Given the description of an element on the screen output the (x, y) to click on. 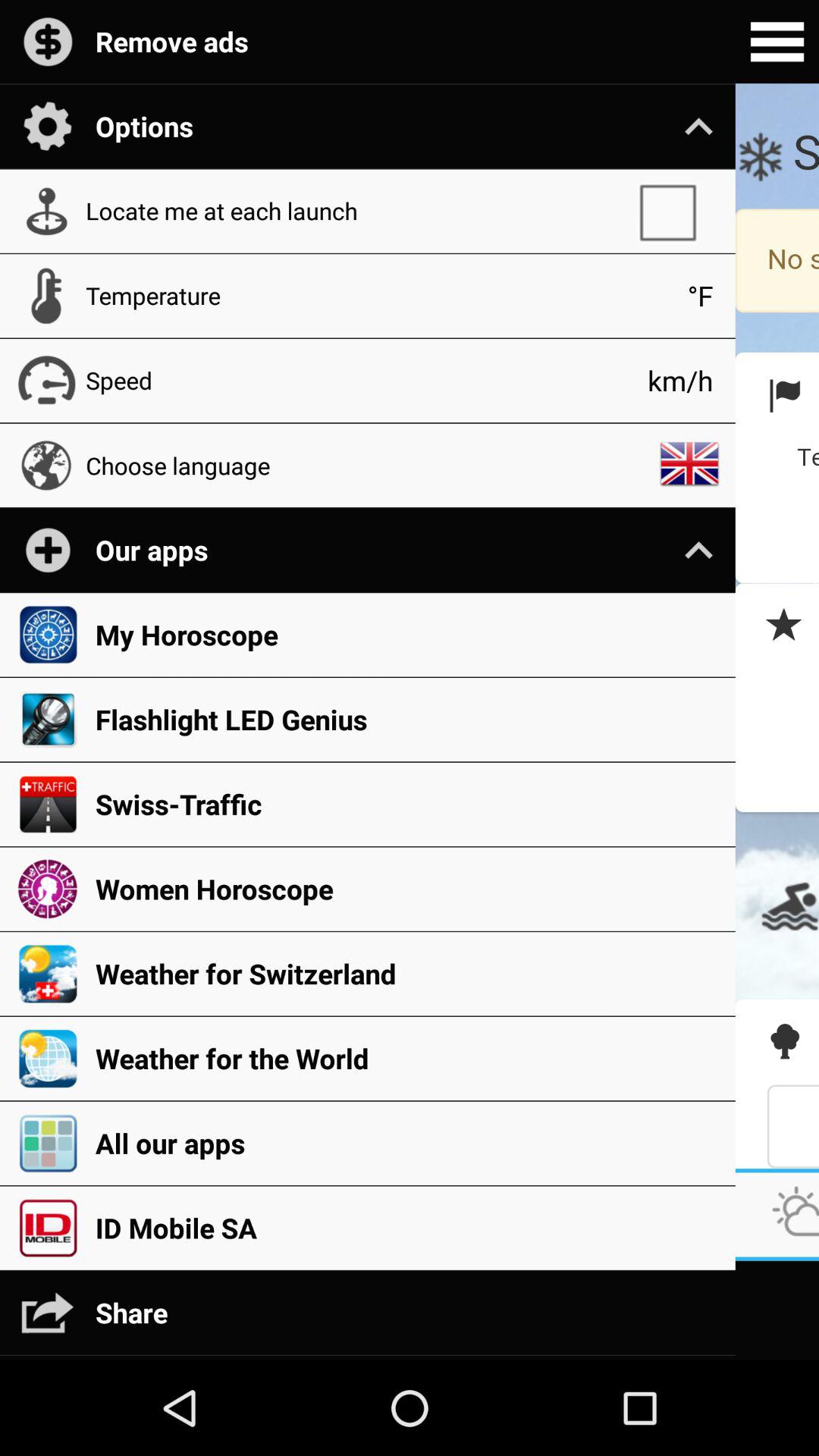
tap the icon below the options app (675, 211)
